Given the description of an element on the screen output the (x, y) to click on. 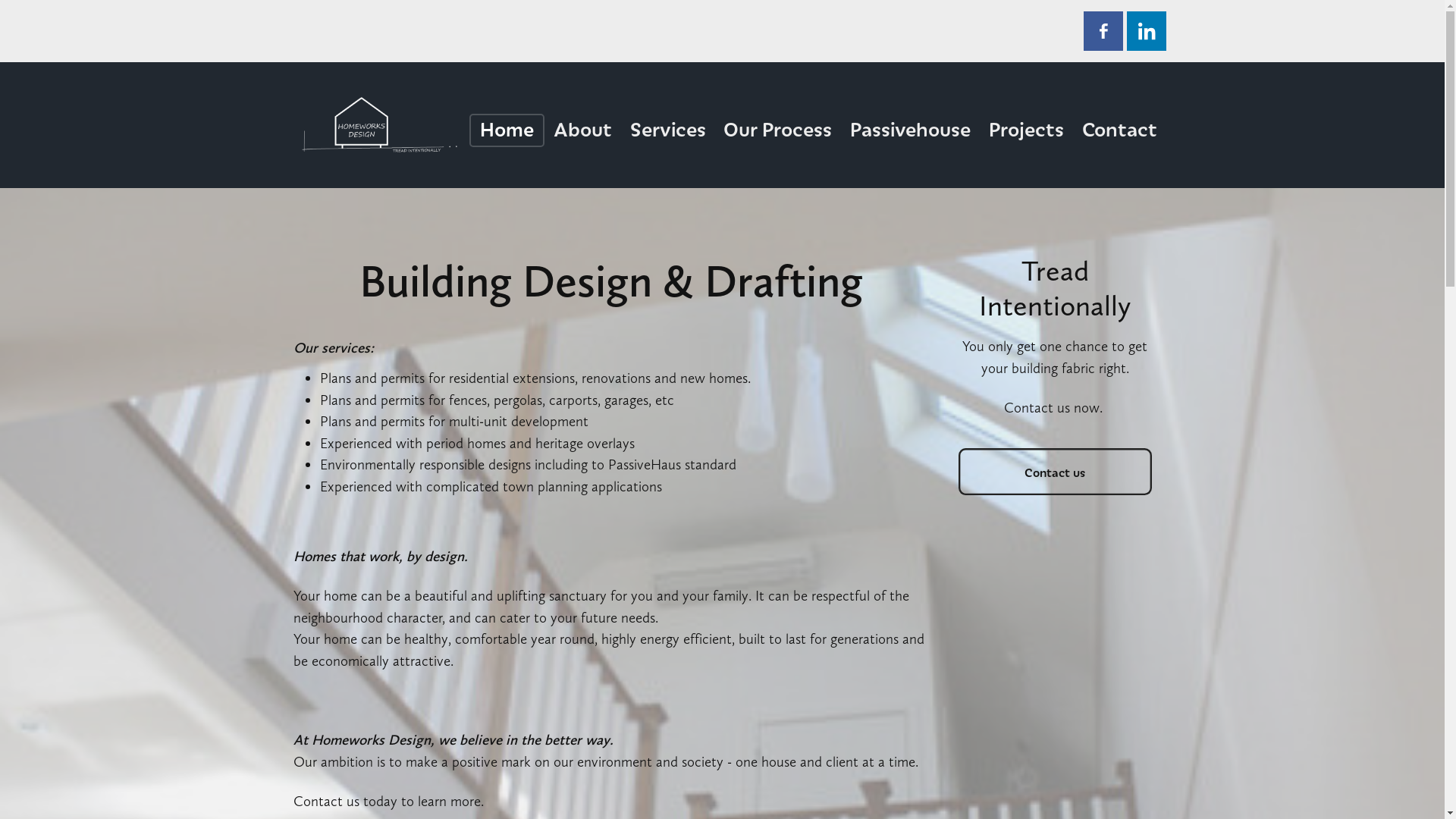
Contact Element type: text (1119, 130)
About Element type: text (582, 130)
A link to this website's LinkedIn. Element type: hover (1145, 30)
Home Element type: text (506, 130)
Passivehouse Element type: text (909, 130)
Services Element type: text (668, 130)
Our Process Element type: text (777, 130)
Contact us Element type: text (1054, 471)
A link to this website's Facebook. Element type: hover (1102, 30)
Projects Element type: text (1026, 130)
